Given the description of an element on the screen output the (x, y) to click on. 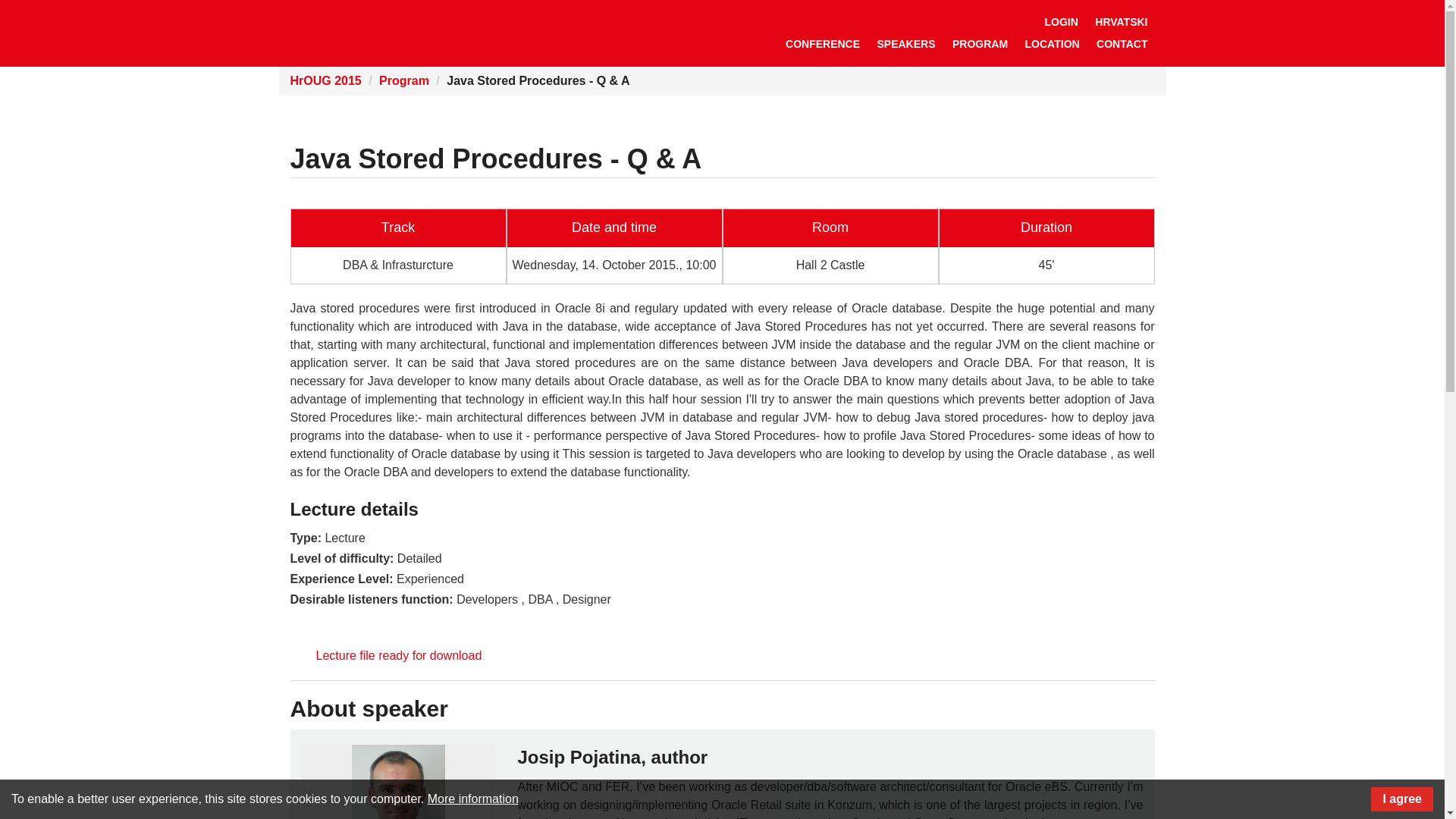
HrOUG 2022 Spring (370, 32)
SPEAKERS (906, 43)
LOCATION (1051, 43)
CONFERENCE (822, 43)
Lecture file ready for download (398, 655)
HRVATSKI (1120, 21)
HrOUG 2015 (325, 80)
HrOUG 2022 Spring (370, 32)
More information (473, 798)
LOGIN (1060, 21)
